Given the description of an element on the screen output the (x, y) to click on. 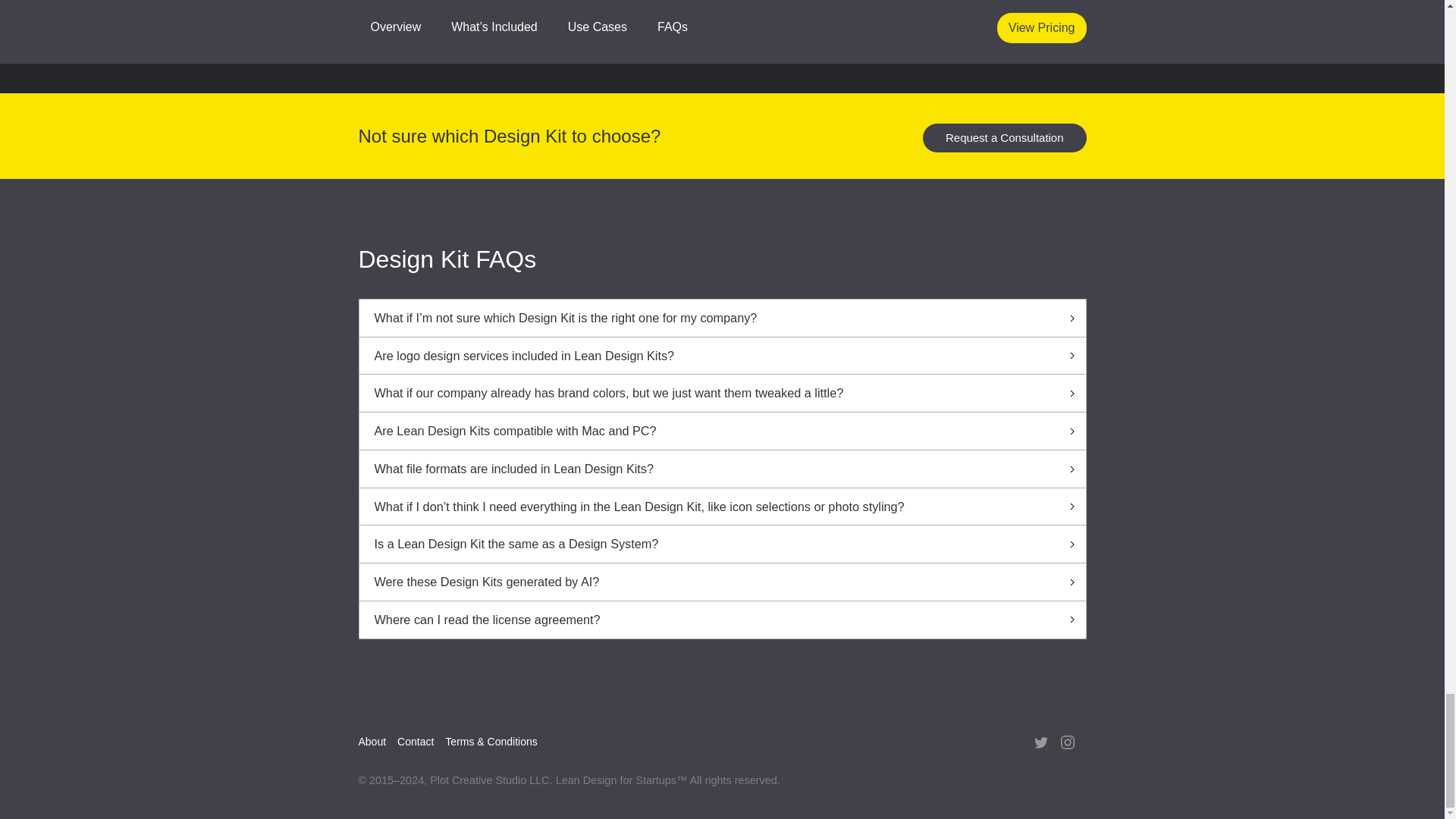
Request a Consultation (1004, 137)
Are logo design services included in Lean Design Kits? (722, 355)
Is a Lean Design Kit the same as a Design System? (722, 544)
Are Lean Design Kits compatible with Mac and PC? (722, 431)
Were these Design Kits generated by AI? (722, 582)
Where can I read the license agreement? (722, 619)
About (377, 741)
What file formats are included in Lean Design Kits? (722, 469)
Contact (421, 741)
